Given the description of an element on the screen output the (x, y) to click on. 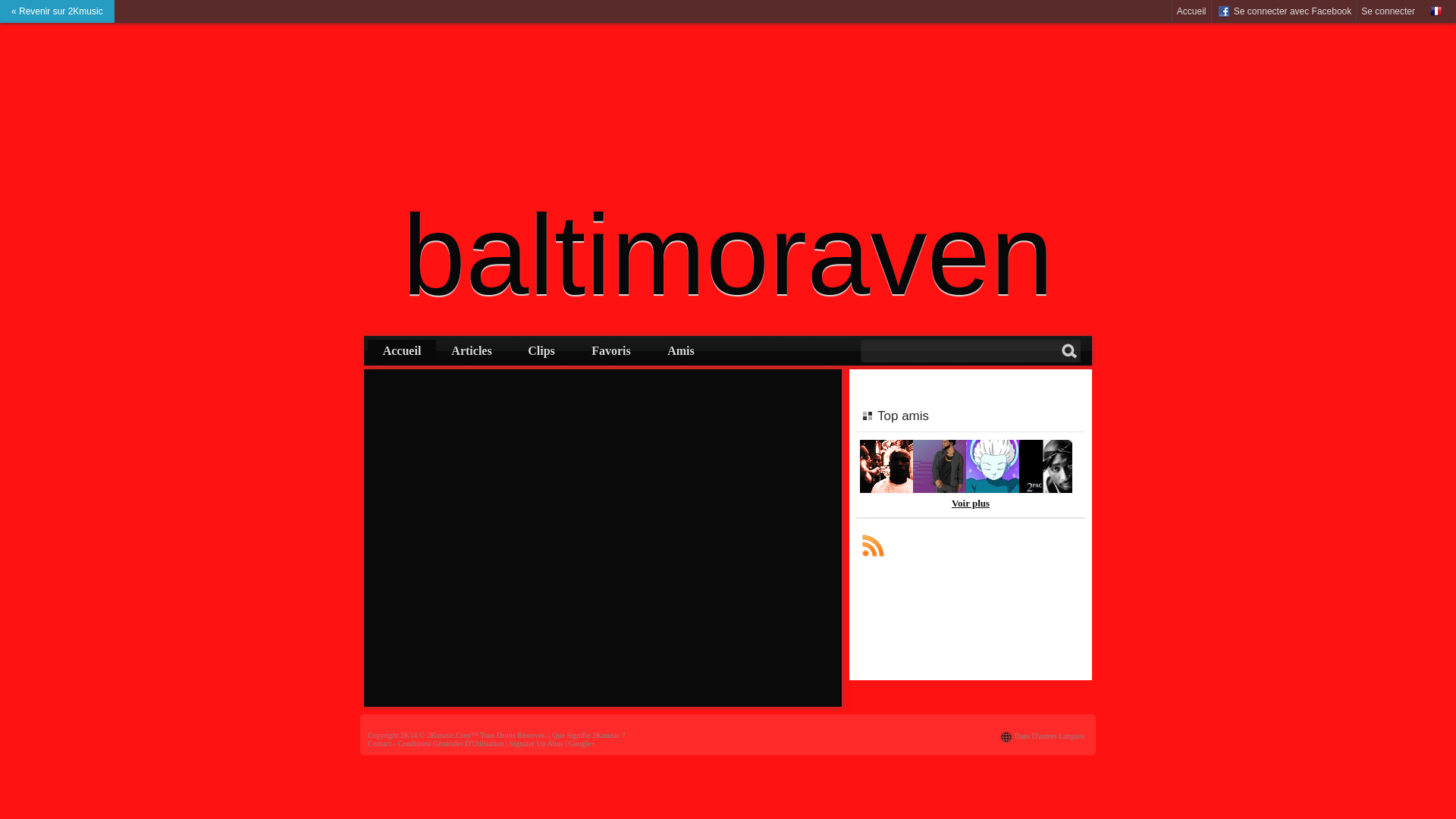
Amis Element type: text (680, 350)
Se connecter Element type: text (1387, 11)
baltimoraven Element type: text (727, 254)
Articles Element type: text (471, 350)
Voir plus Element type: text (970, 502)
Favoris Element type: text (611, 350)
Accueil Element type: text (401, 350)
Signaler Un Abus Element type: text (536, 743)
Taste Element type: hover (886, 490)
Accueil Element type: text (1191, 11)
Welcome to the world of music Element type: hover (1045, 490)
Street Blog Element type: hover (939, 490)
Clips Element type: text (541, 350)
Google+ Element type: text (581, 743)
CheetahKingFuuma Element type: hover (992, 490)
Que Signifie 2Kmusic ? Element type: text (588, 735)
Dans D'Autres Langues Element type: text (1049, 735)
 Se connecter avec Facebook Element type: text (1283, 11)
  Element type: text (872, 545)
